Given the description of an element on the screen output the (x, y) to click on. 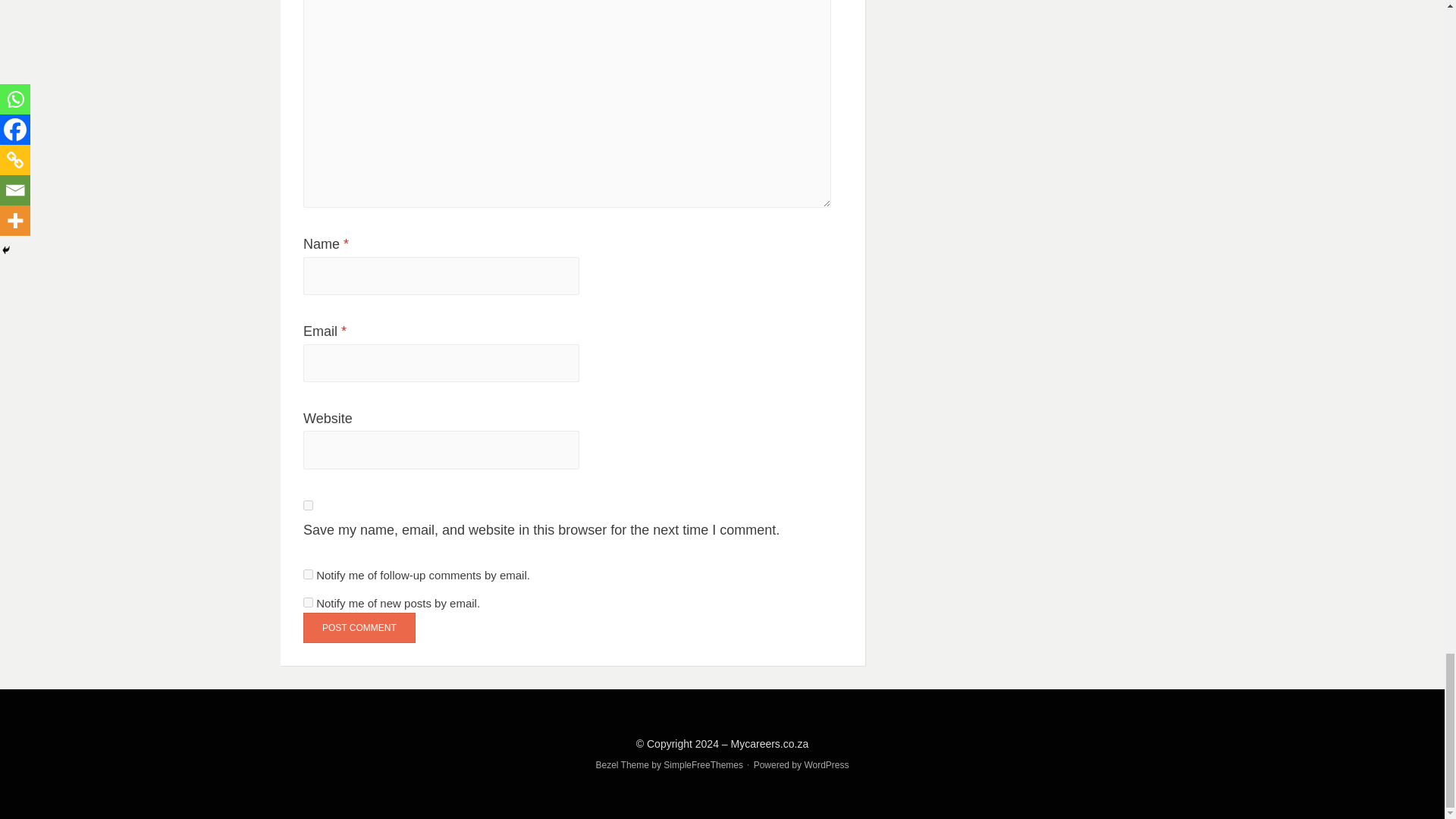
subscribe (307, 574)
subscribe (307, 602)
yes (307, 505)
Post Comment (358, 626)
